Given the description of an element on the screen output the (x, y) to click on. 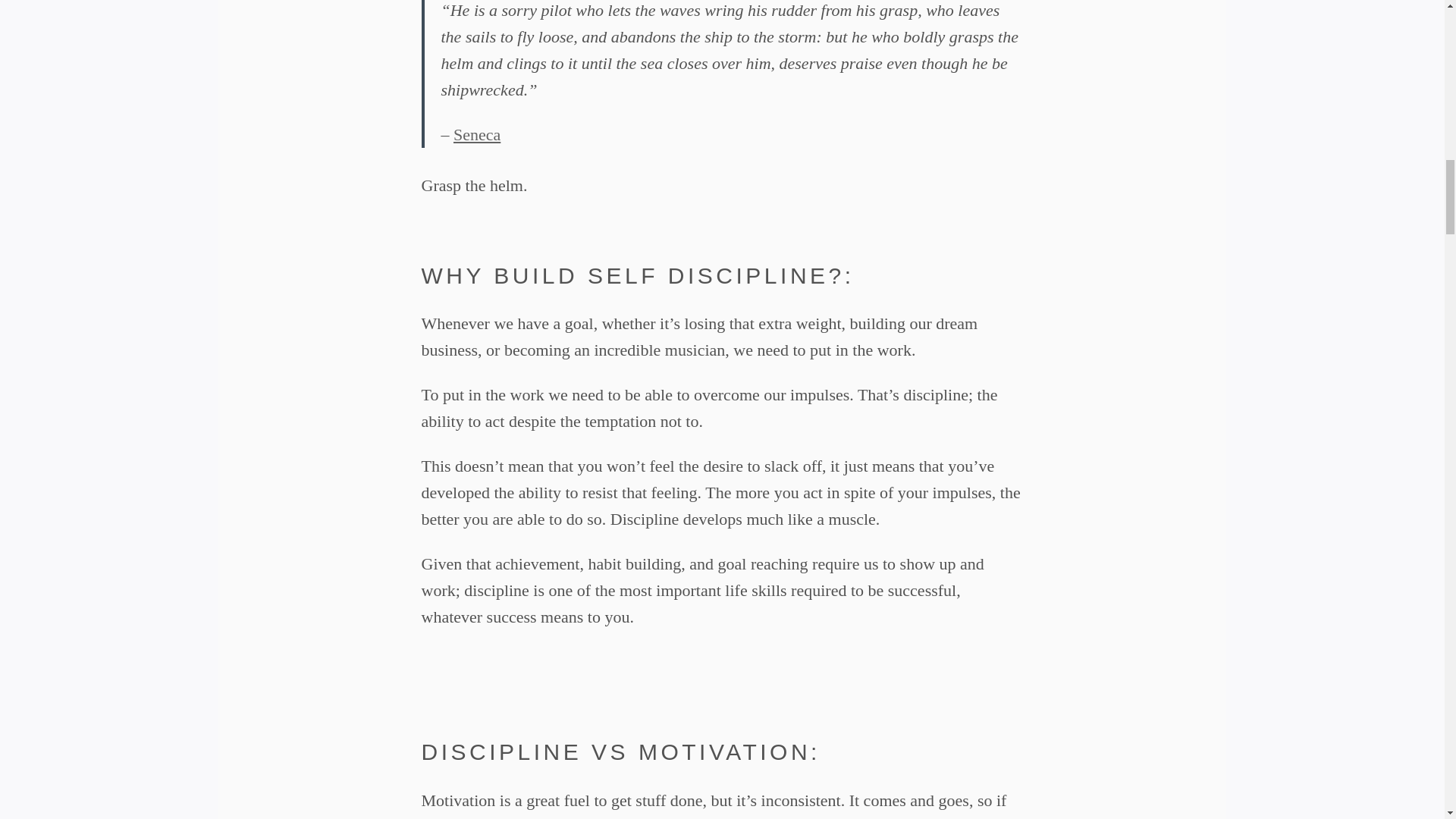
Seneca (476, 134)
